Given the description of an element on the screen output the (x, y) to click on. 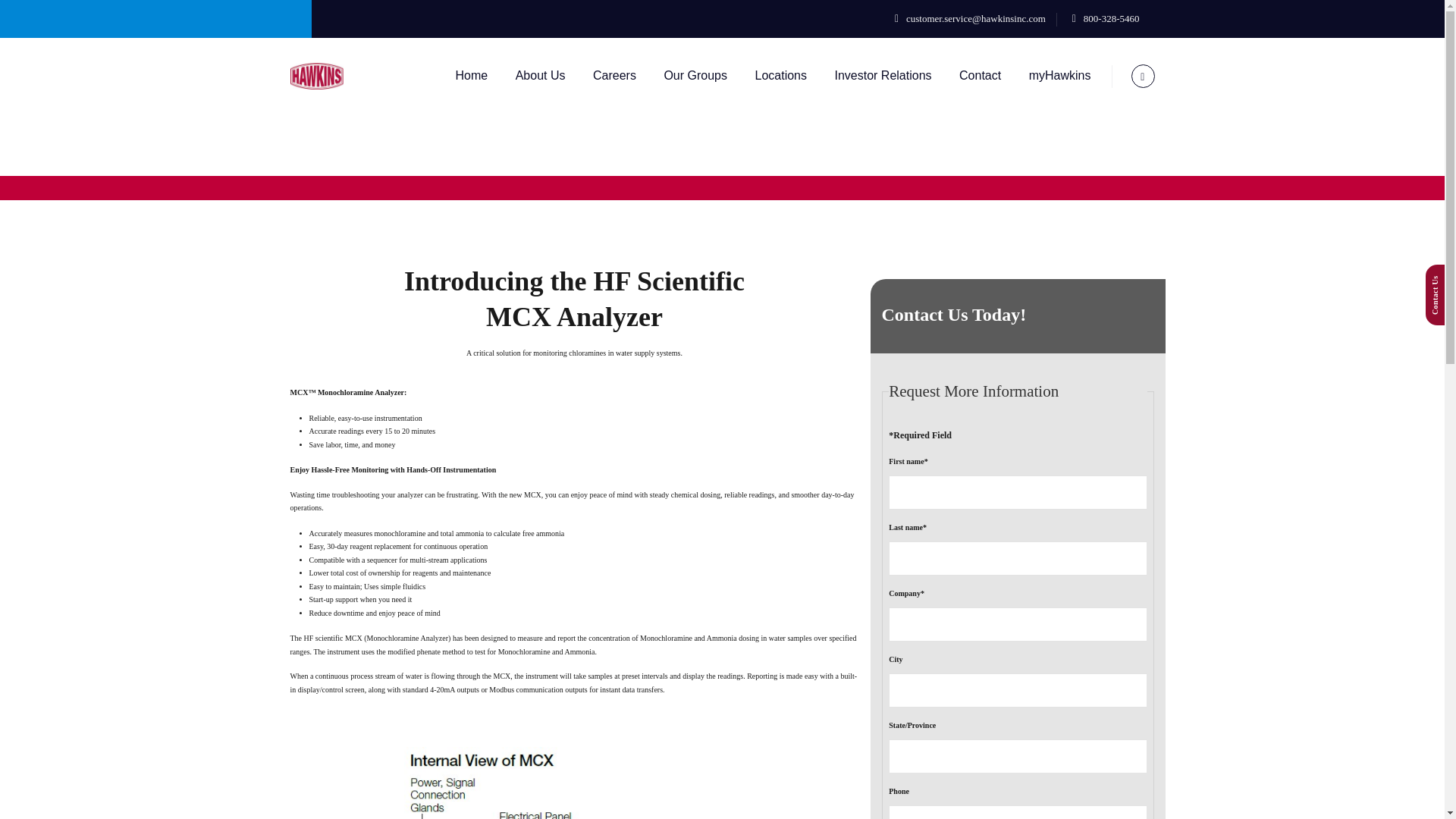
About Us (540, 75)
Locations (780, 75)
Our Groups (694, 75)
Contact (979, 75)
Careers (614, 75)
Investor Relations (883, 75)
myHawkins (1059, 75)
